Given the description of an element on the screen output the (x, y) to click on. 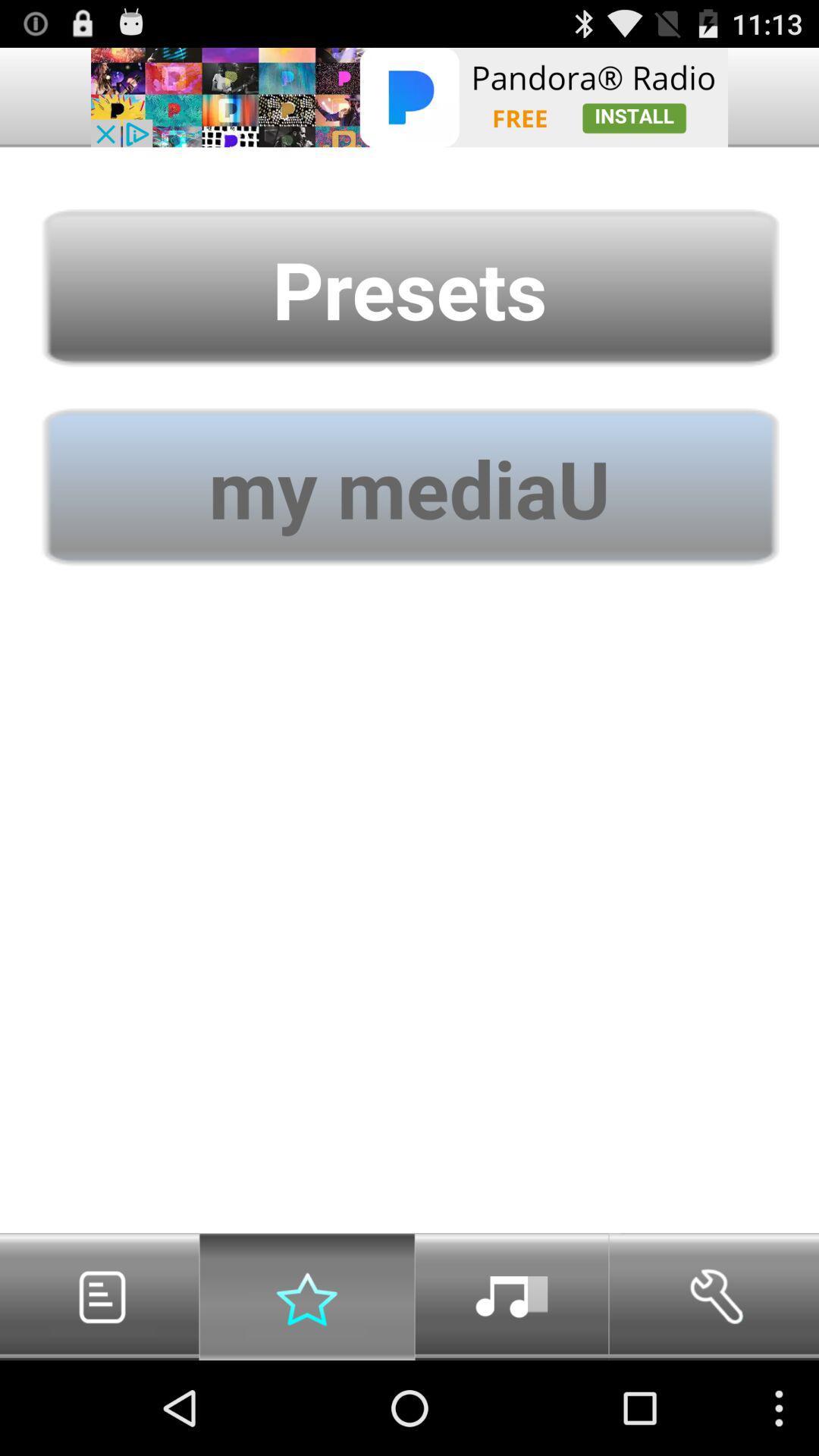
advertising (409, 97)
